Given the description of an element on the screen output the (x, y) to click on. 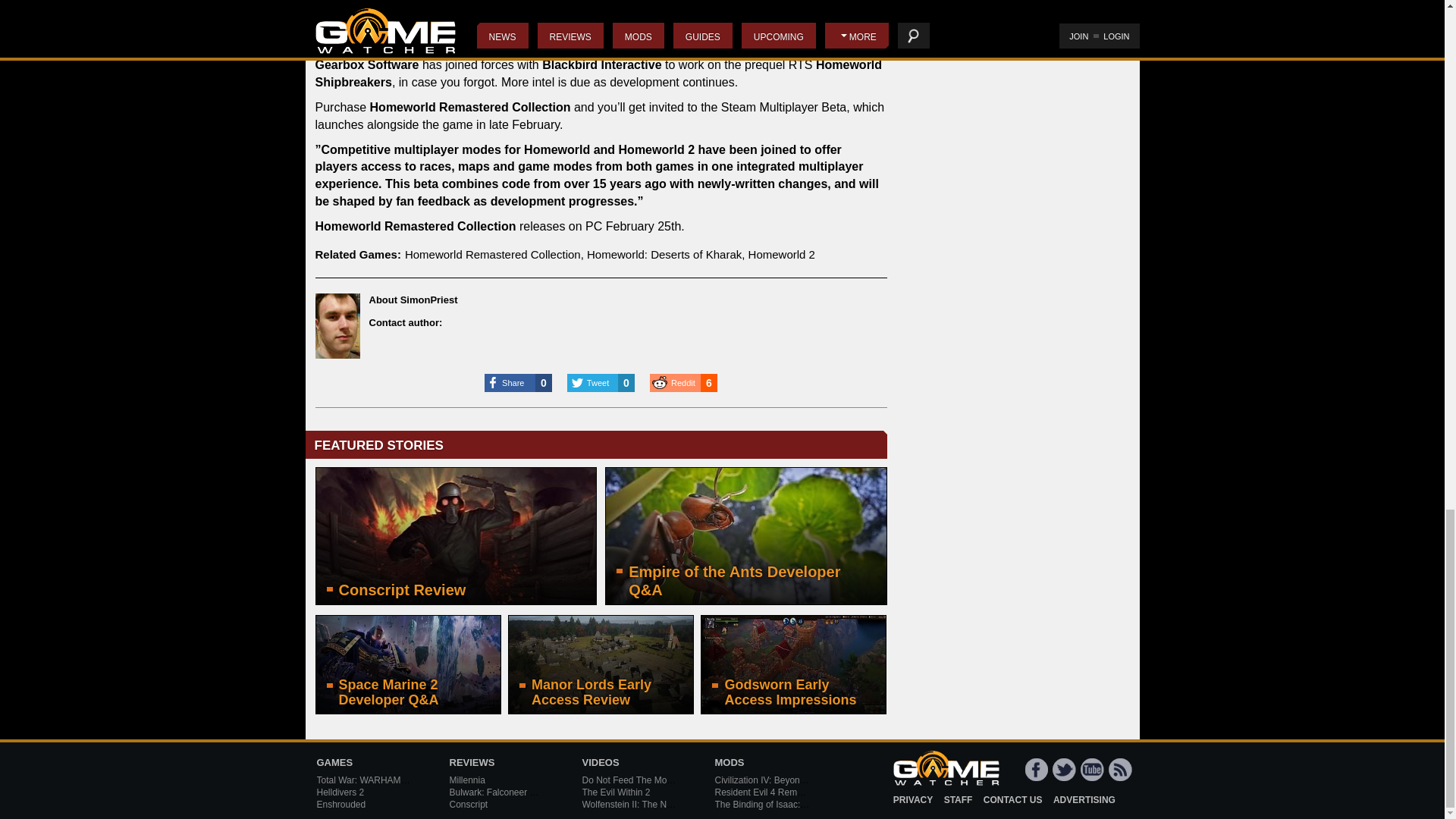
Homeworld: Deserts of Kharak (663, 254)
Homeworld Remastered Collection (492, 254)
Conscript Review (455, 535)
Homeworld 2 (781, 254)
